Given the description of an element on the screen output the (x, y) to click on. 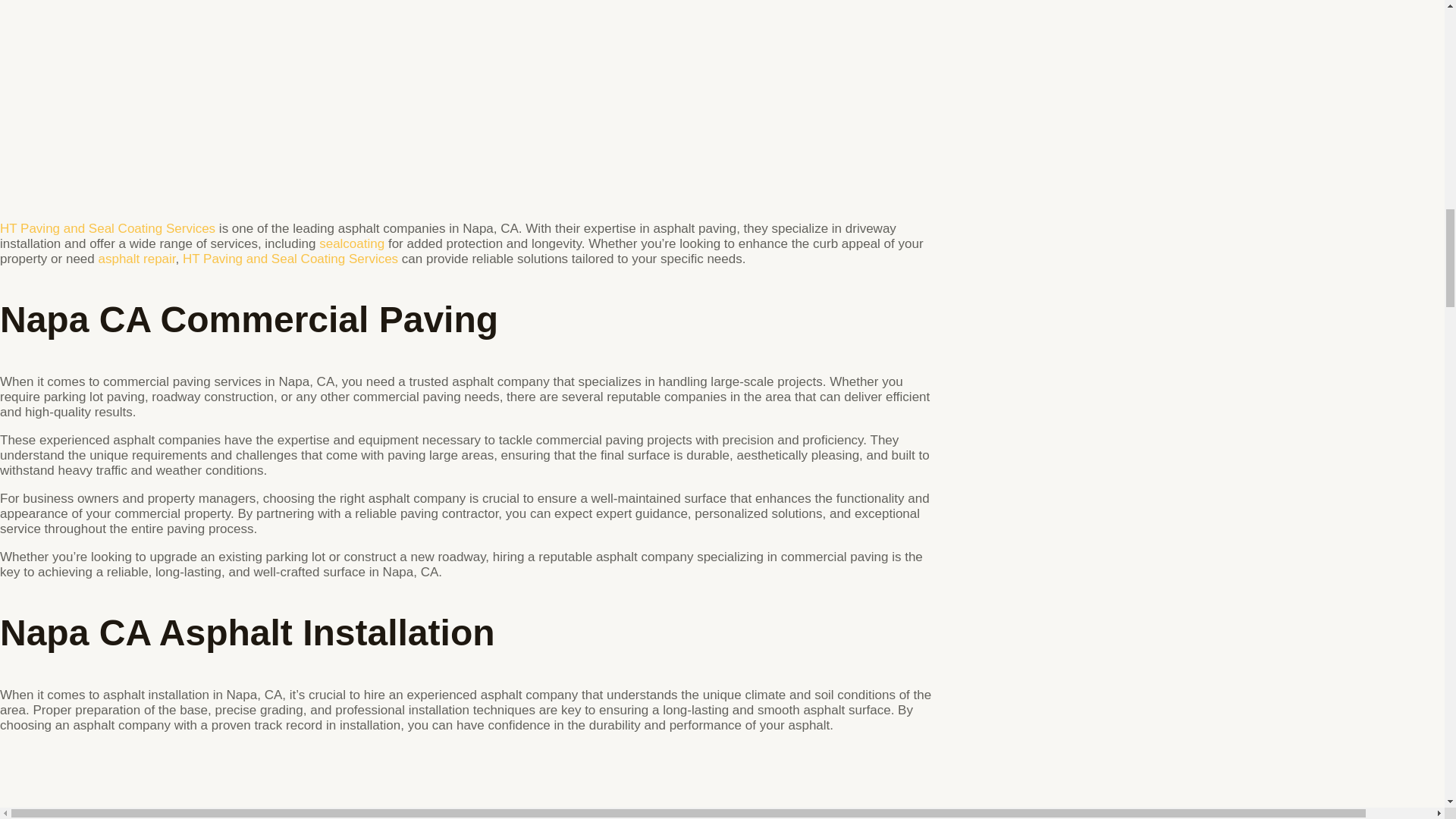
sealcoating (351, 243)
HT Paving and Seal Coating Services (107, 228)
Learn More! (135, 258)
Learn More! (290, 258)
Learn More! (351, 243)
Learn More! (107, 228)
